Given the description of an element on the screen output the (x, y) to click on. 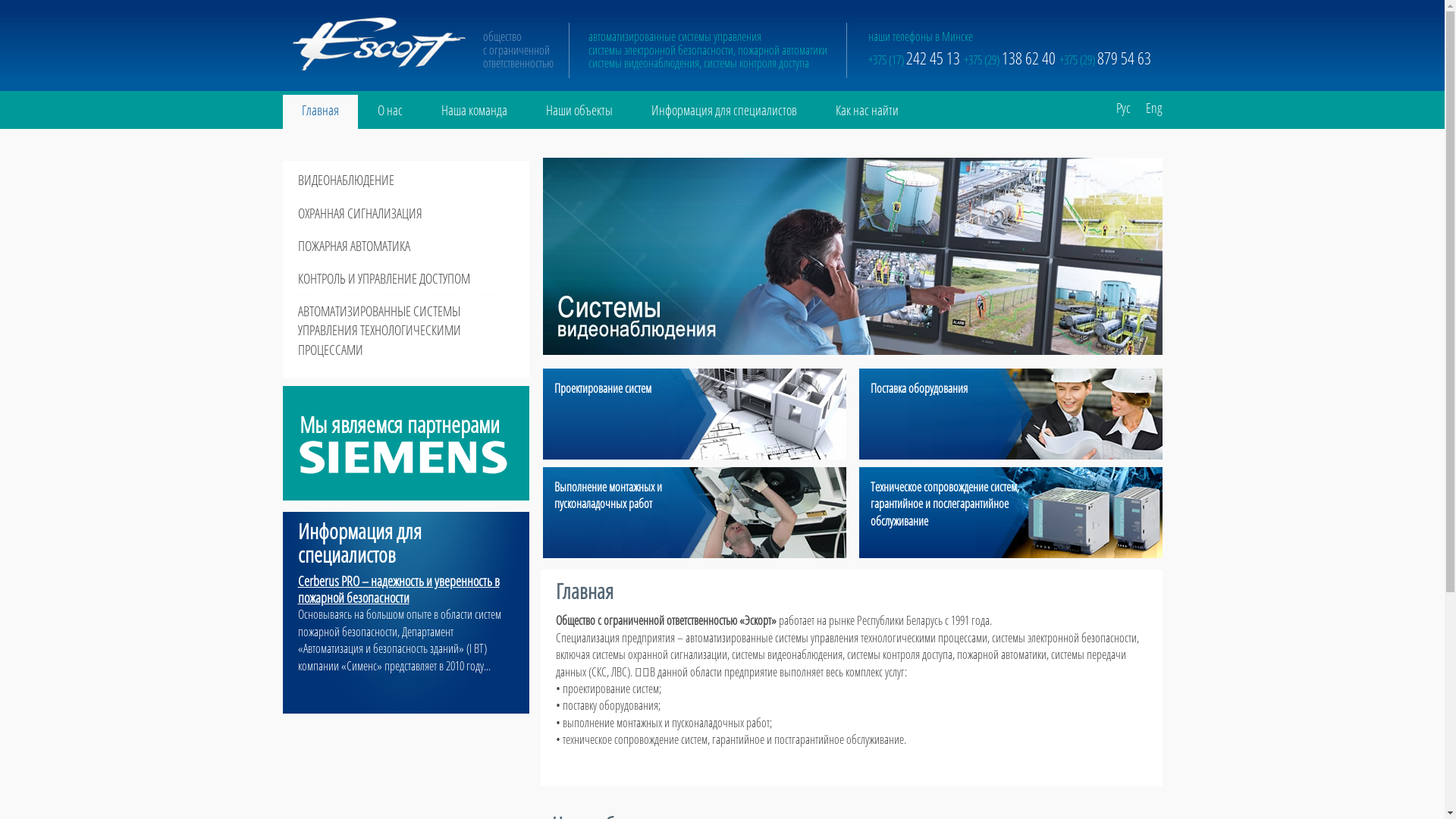
Eng Element type: text (1145, 101)
